Given the description of an element on the screen output the (x, y) to click on. 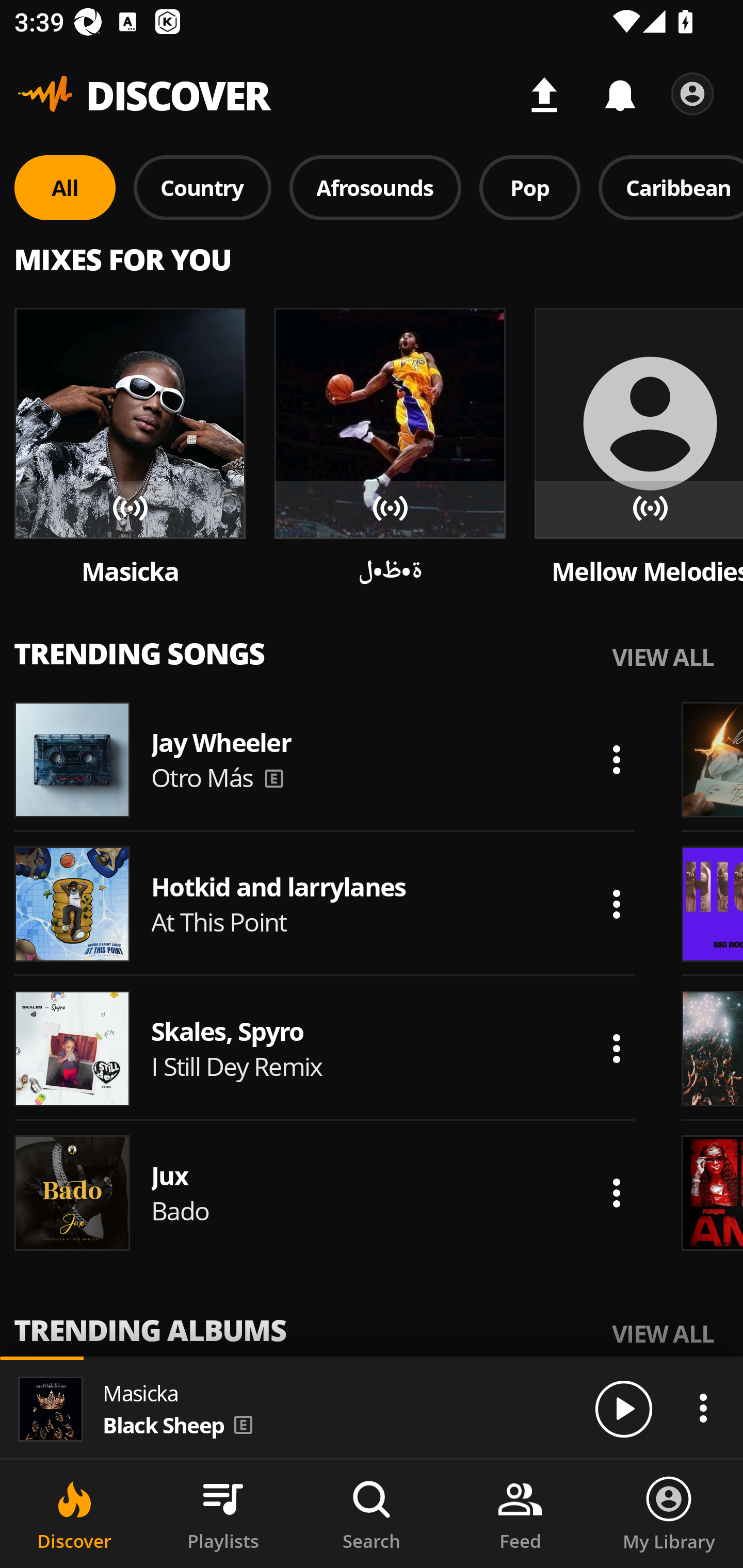
Settings (692, 94)
All (64, 187)
Country (202, 187)
Afrosounds (375, 187)
Pop (529, 187)
Caribbean (670, 187)
Song artwork Song artwork Song artwork Masicka (129, 447)
Song artwork Song artwork Song artwork ة•ظ•ل (389, 447)
VIEW ALL (663, 655)
Song artwork Jay Wheeler Otro Más    Actions (324, 759)
Actions (616, 759)
Actions (616, 903)
Actions (616, 1048)
Song artwork Jux Bado Actions (324, 1193)
Actions (616, 1193)
VIEW ALL (663, 1333)
Actions (703, 1407)
Play/Pause (623, 1408)
Discover (74, 1513)
Playlists (222, 1513)
Search (371, 1513)
Feed (519, 1513)
My Library (668, 1513)
